Given the description of an element on the screen output the (x, y) to click on. 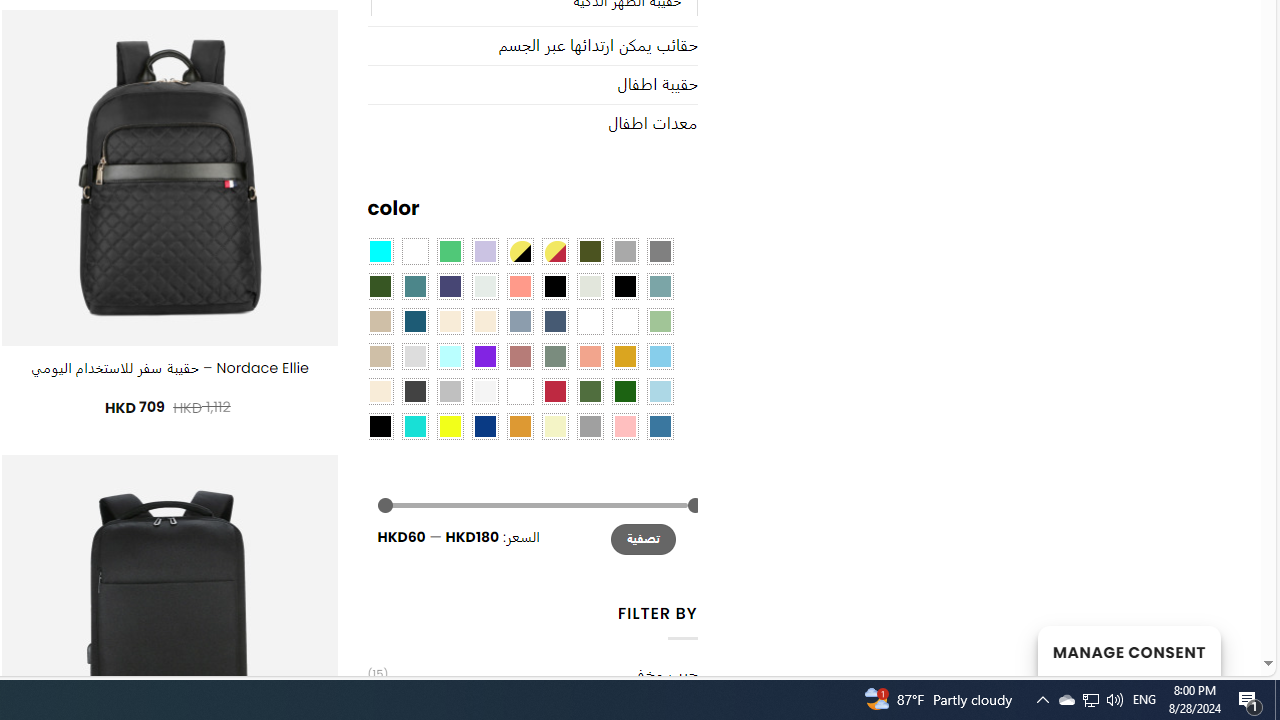
Black-Brown (624, 285)
Aqua Blue (379, 251)
Teal (414, 285)
Light Green (659, 321)
Hale Navy (554, 321)
